Given the description of an element on the screen output the (x, y) to click on. 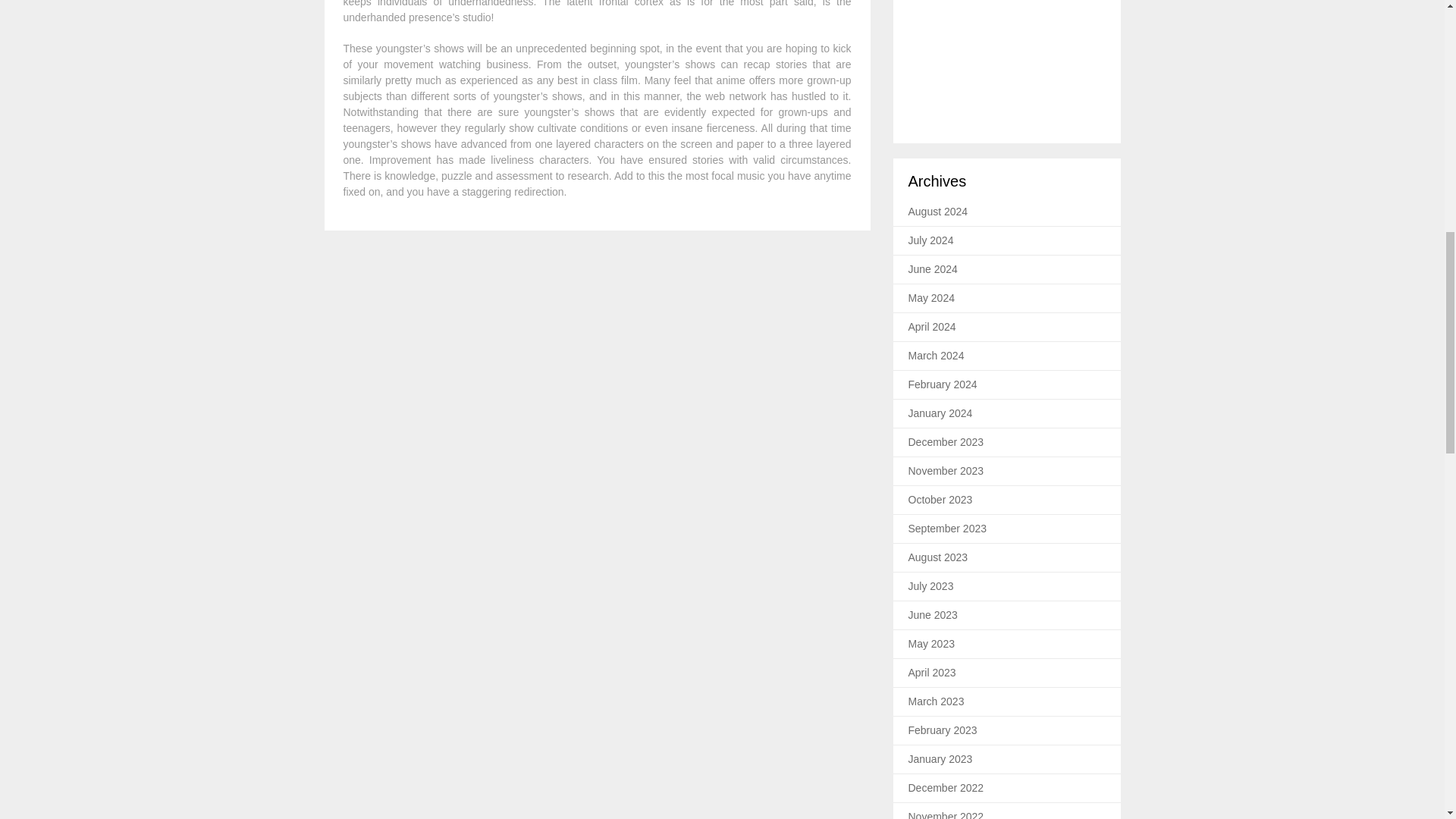
February 2024 (942, 384)
November 2022 (946, 814)
July 2024 (930, 240)
August 2023 (938, 557)
February 2023 (942, 729)
June 2024 (933, 268)
May 2024 (931, 297)
March 2023 (935, 701)
November 2023 (946, 470)
September 2023 (947, 528)
